Given the description of an element on the screen output the (x, y) to click on. 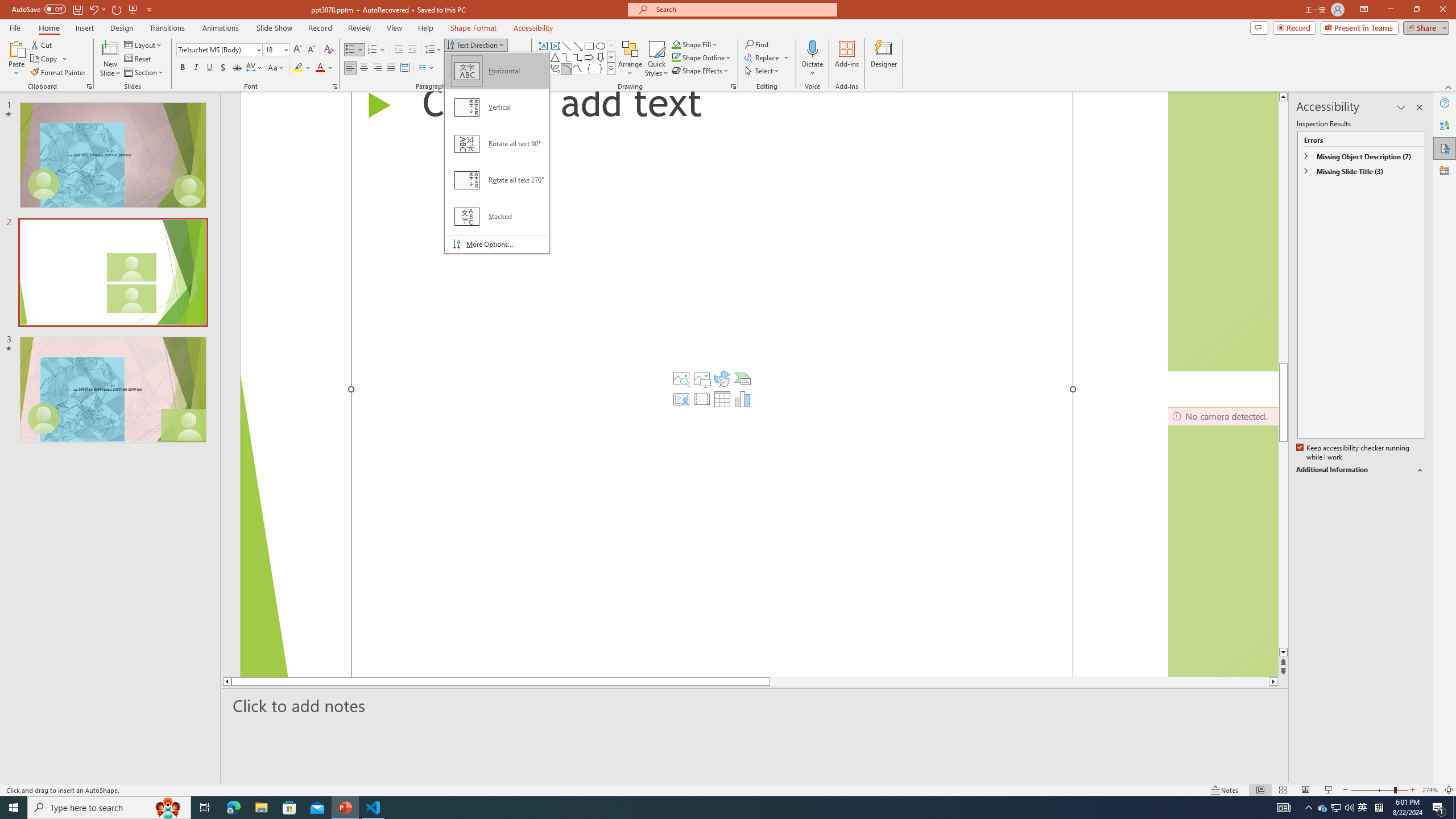
Camera 3, No camera detected. (1222, 541)
Insert Video (701, 398)
